Given the description of an element on the screen output the (x, y) to click on. 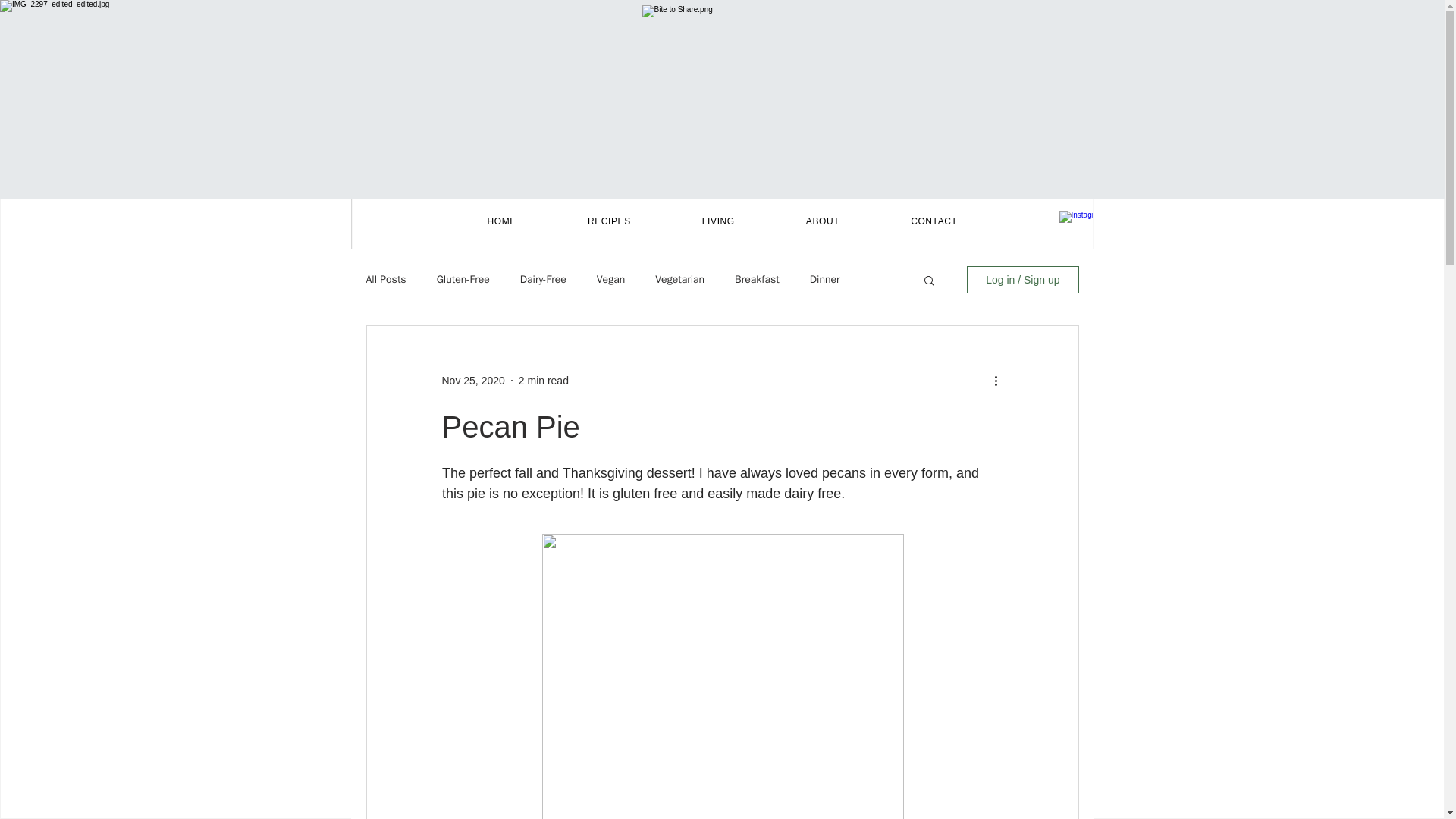
ABOUT (822, 221)
Nov 25, 2020 (472, 380)
Breakfast (756, 279)
HOME (501, 221)
Dairy-Free (542, 279)
Vegetarian (679, 279)
2 min read (543, 380)
CONTACT (933, 221)
LIVING (718, 221)
RECIPES (608, 221)
Gluten-Free (462, 279)
Dinner (824, 279)
All Posts (385, 279)
Vegan (610, 279)
